Given the description of an element on the screen output the (x, y) to click on. 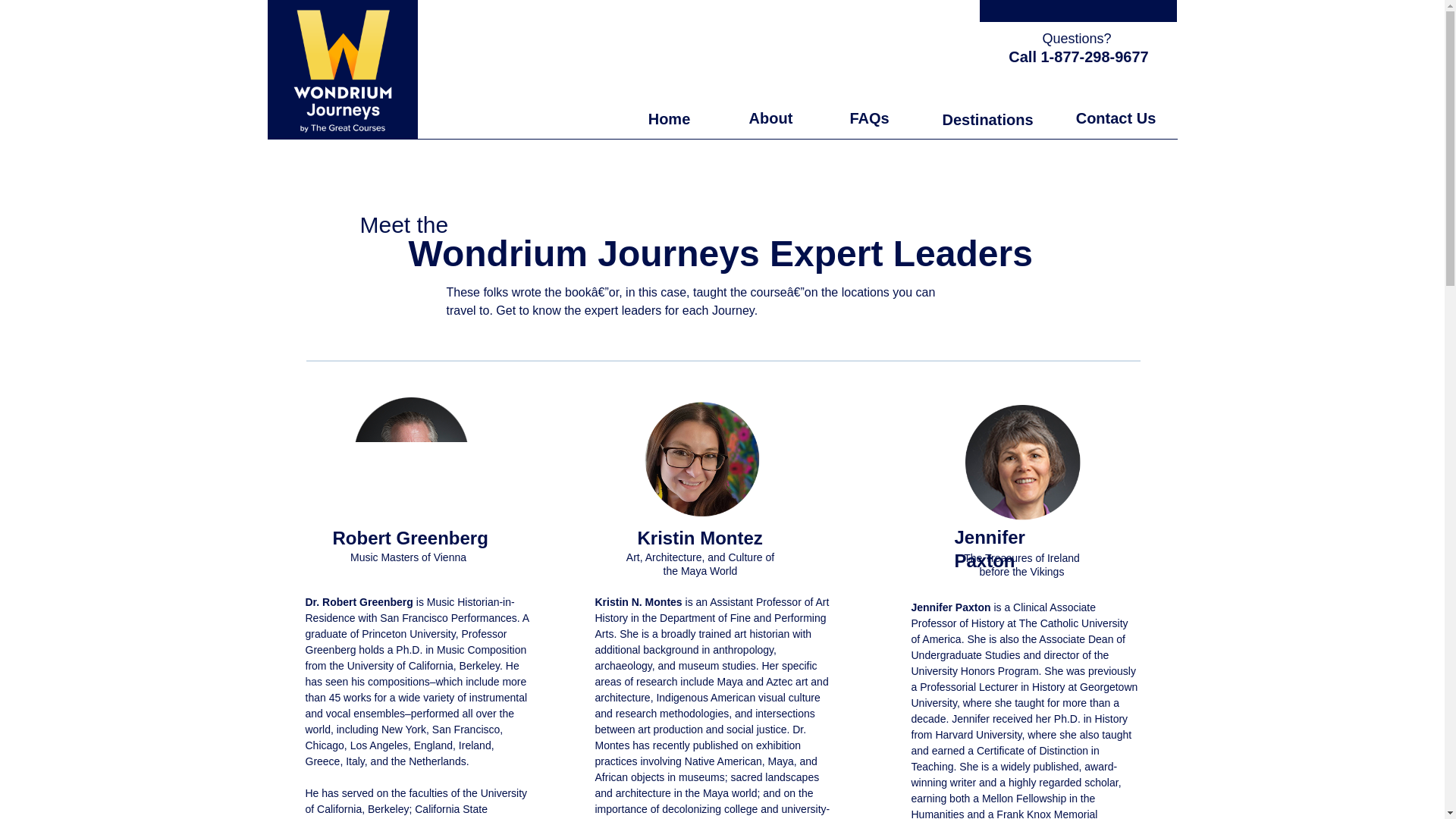
Contact Us (1115, 118)
Destinations (987, 119)
The Treasures of Ireland before the Vikings (1021, 565)
About (771, 118)
Music Masters of Vienna (407, 557)
FAQs (869, 118)
Home (668, 119)
